Given the description of an element on the screen output the (x, y) to click on. 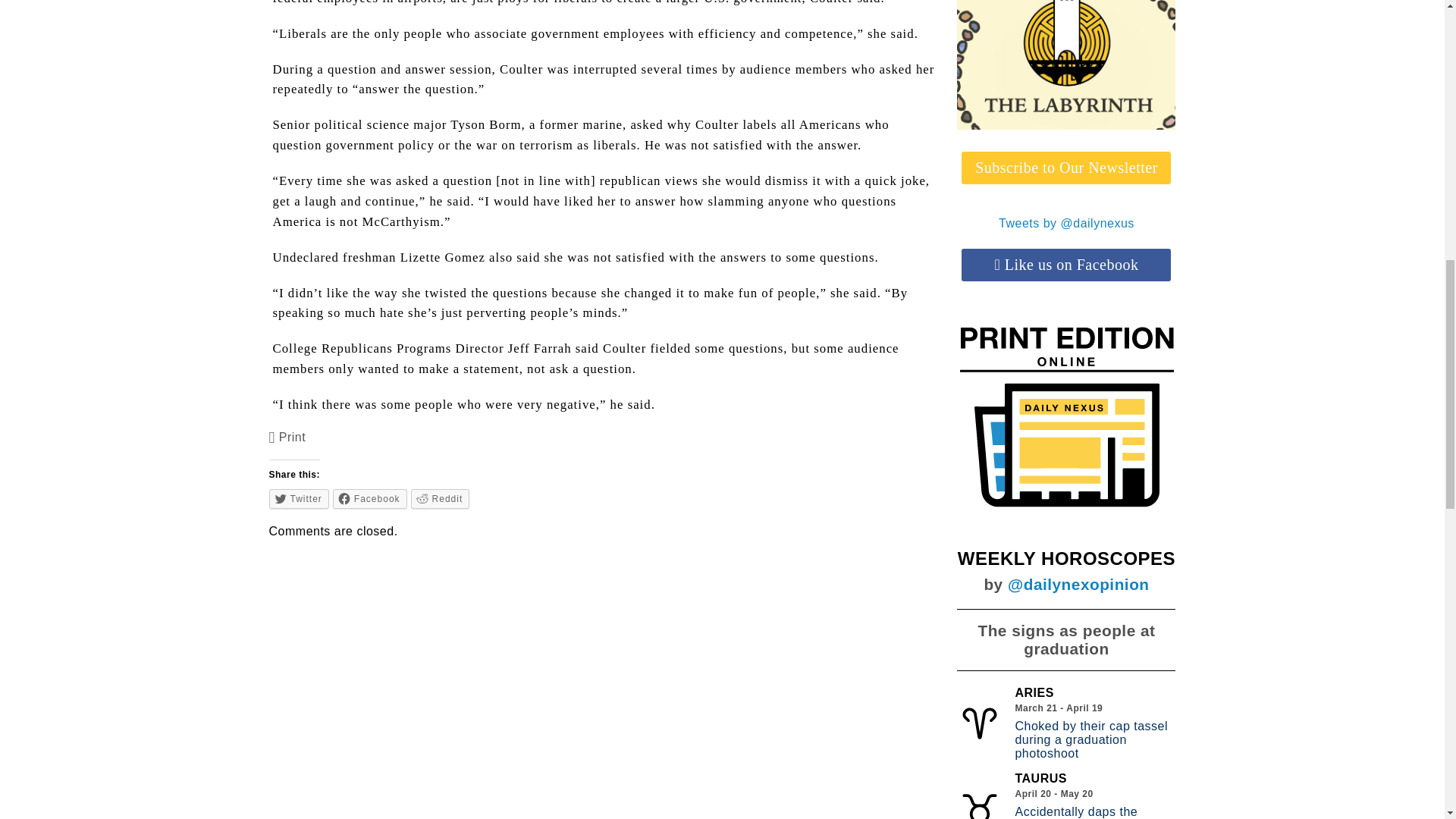
Click to share on Facebook (370, 498)
Click to share on Reddit (440, 498)
Click to share on Twitter (299, 498)
